Given the description of an element on the screen output the (x, y) to click on. 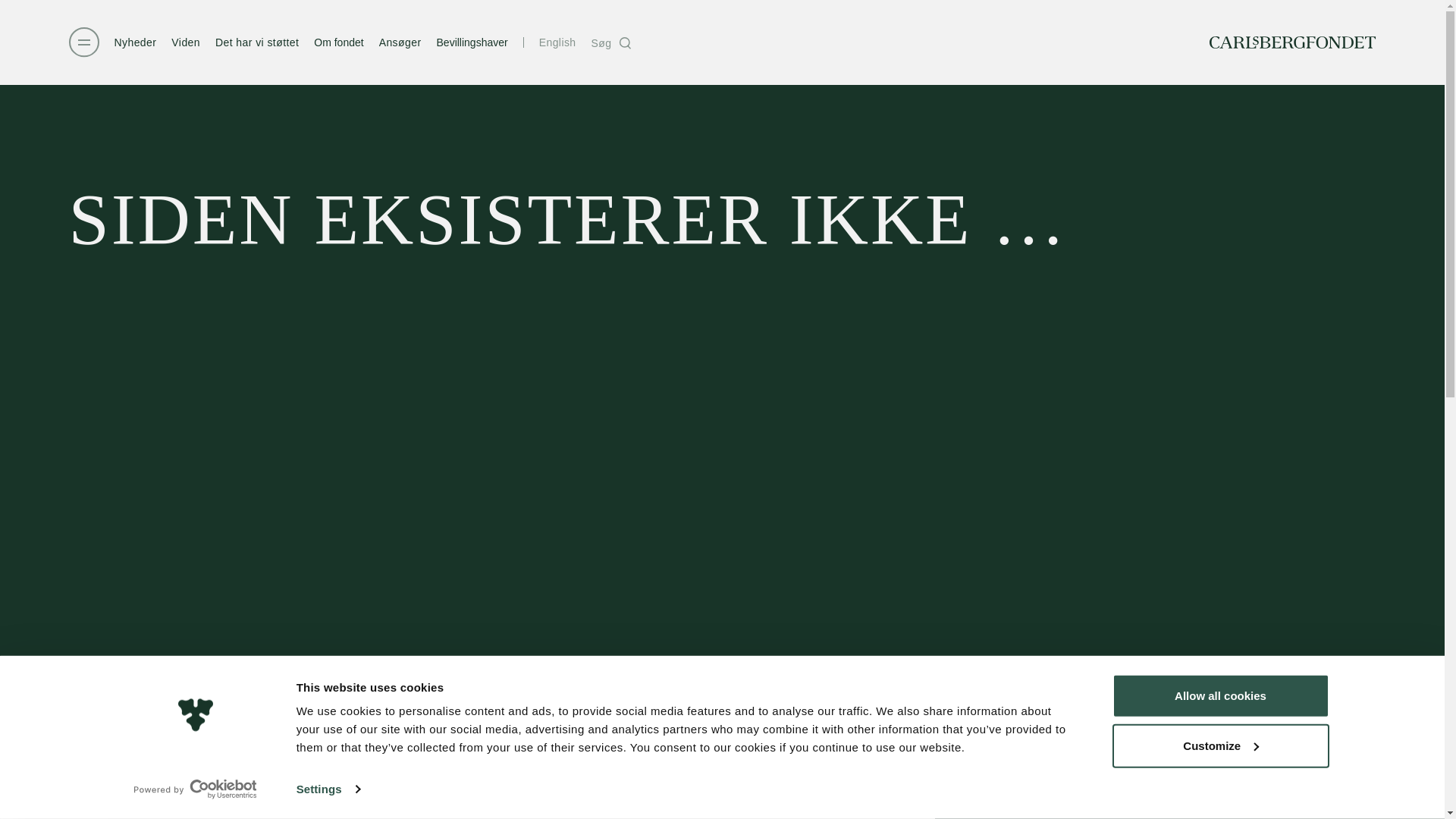
Settings (328, 789)
Allow all cookies (1219, 696)
Om fondet (338, 42)
Nyheder (134, 42)
Viden (185, 42)
Customize (1219, 745)
